Given the description of an element on the screen output the (x, y) to click on. 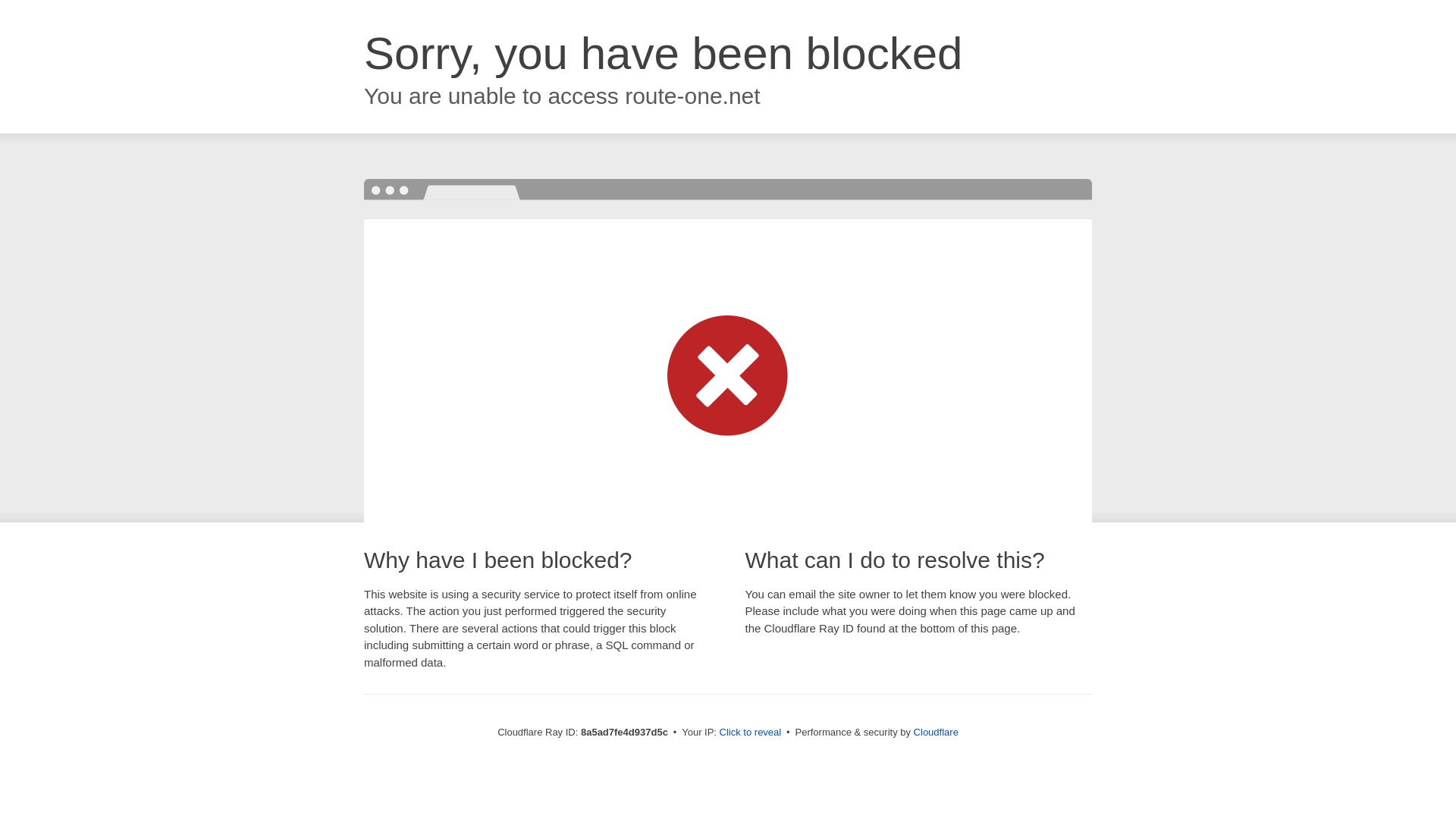
Click to reveal (750, 732)
Cloudflare (936, 731)
